Given the description of an element on the screen output the (x, y) to click on. 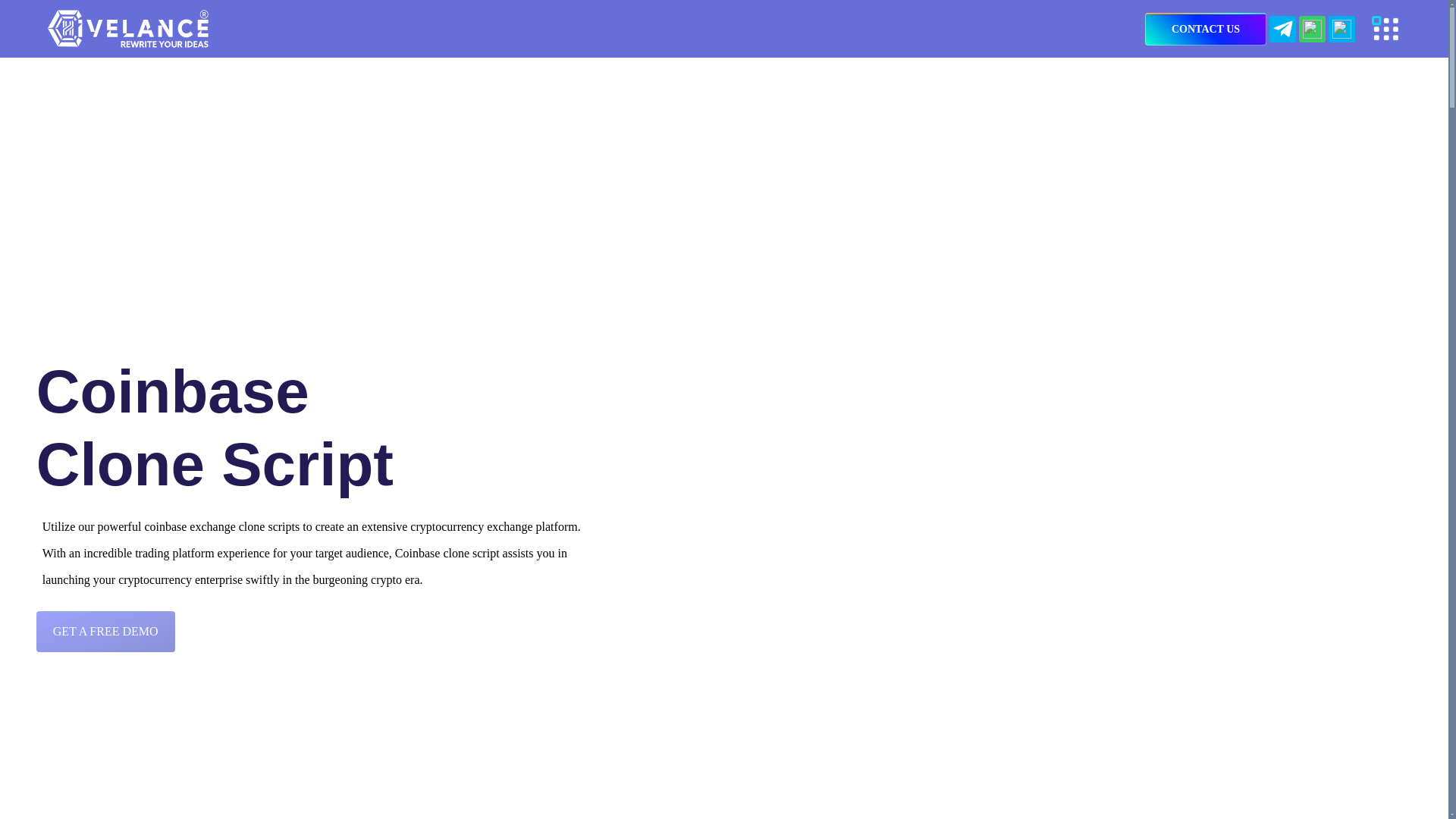
telegram (29, 260)
whatsapp (29, 302)
menu whatsapp (1312, 28)
skype (29, 345)
logo (128, 28)
menu skype (1341, 28)
CONTACT US (1205, 28)
menu telegram (1282, 27)
